Given the description of an element on the screen output the (x, y) to click on. 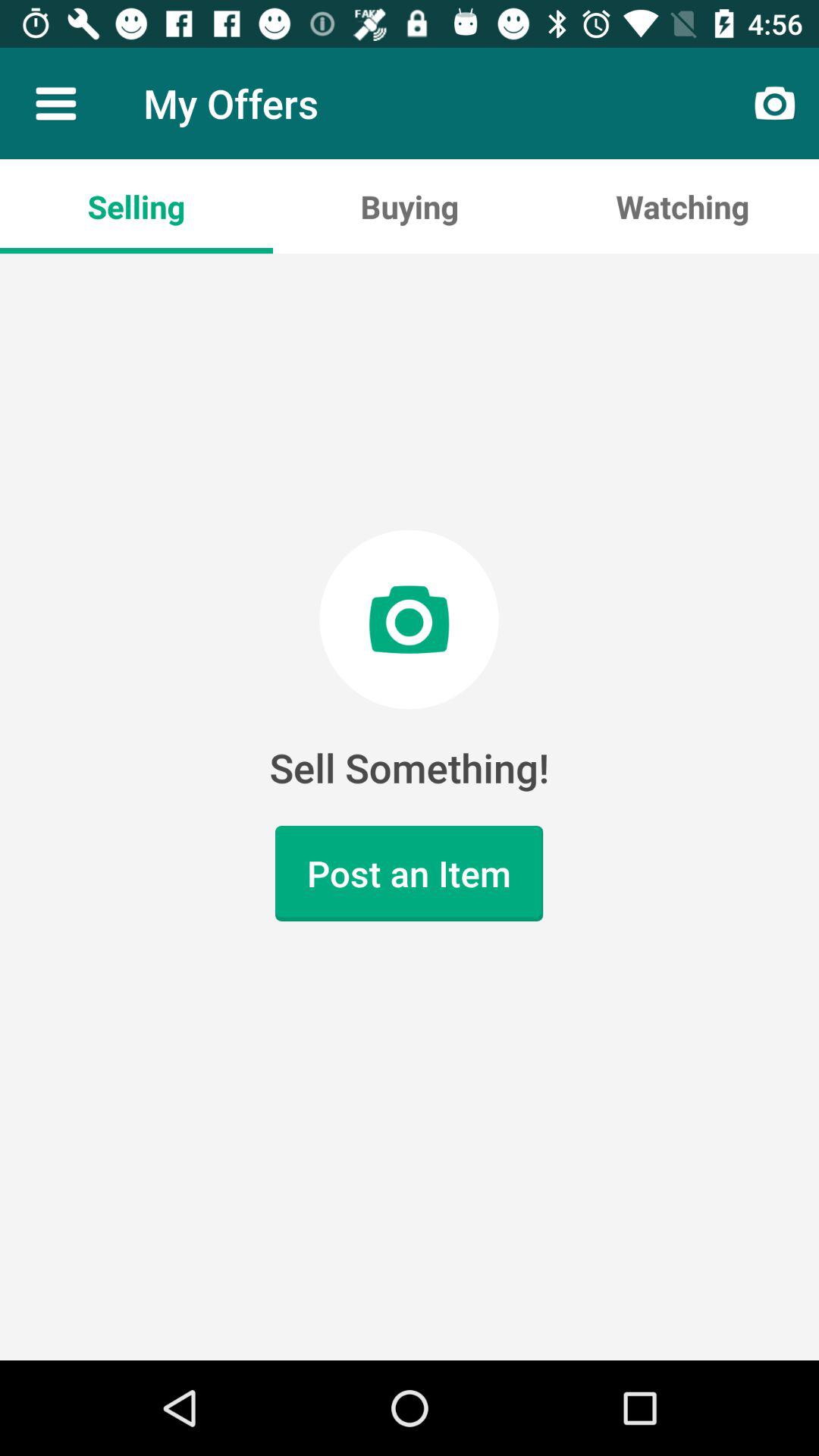
click the app to the left of buying item (136, 206)
